Given the description of an element on the screen output the (x, y) to click on. 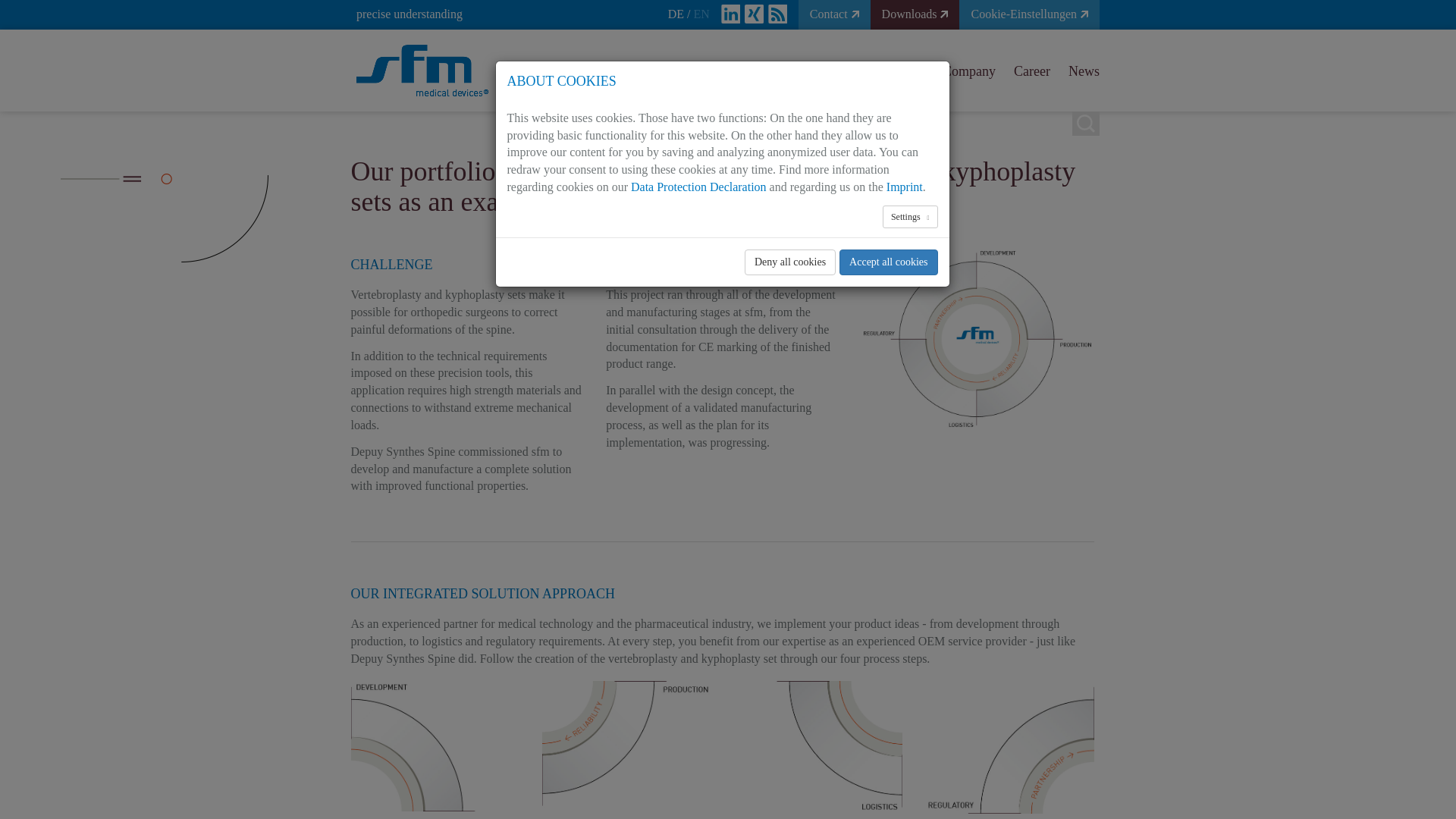
Competence Production (626, 745)
Expertise overview of sfm (977, 337)
Competence Development (434, 744)
Downloads (915, 14)
News (1079, 71)
XING (753, 13)
Competence Logistics (817, 746)
LinkedIn (729, 13)
Expertise overview of sfm (977, 338)
